Given the description of an element on the screen output the (x, y) to click on. 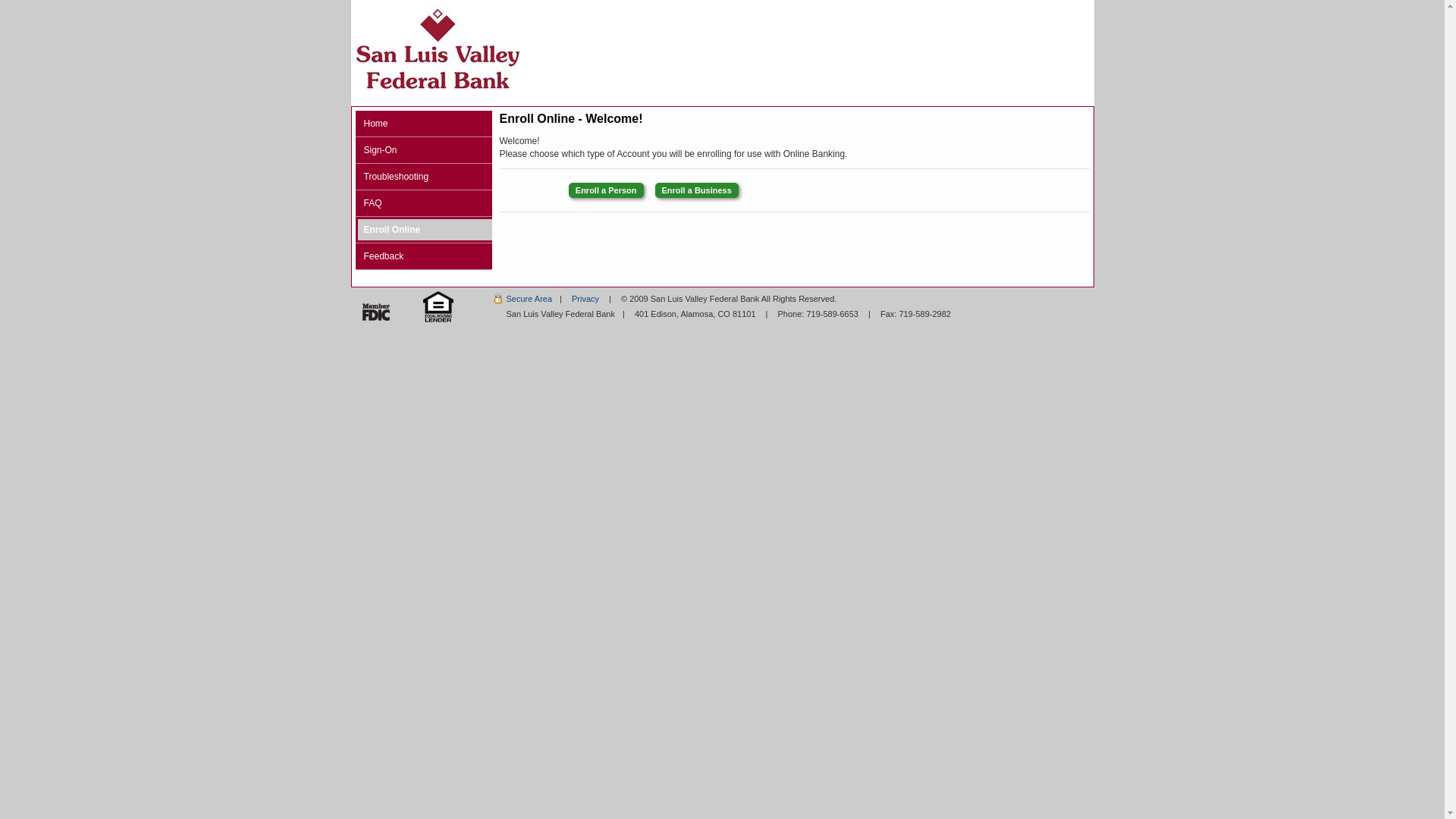
FAQ Element type: text (424, 202)
Sign-On Element type: text (424, 149)
An Equal Housing Lender Element type: hover (438, 307)
Feedback Element type: text (424, 255)
Enroll a Person Element type: text (605, 189)
Enroll Online Element type: text (424, 229)
Privacy Element type: text (585, 298)
Secure Area Element type: text (523, 298)
Troubleshooting Element type: text (424, 176)
Enroll a Business Element type: text (696, 189)
Home Element type: text (424, 123)
